Given the description of an element on the screen output the (x, y) to click on. 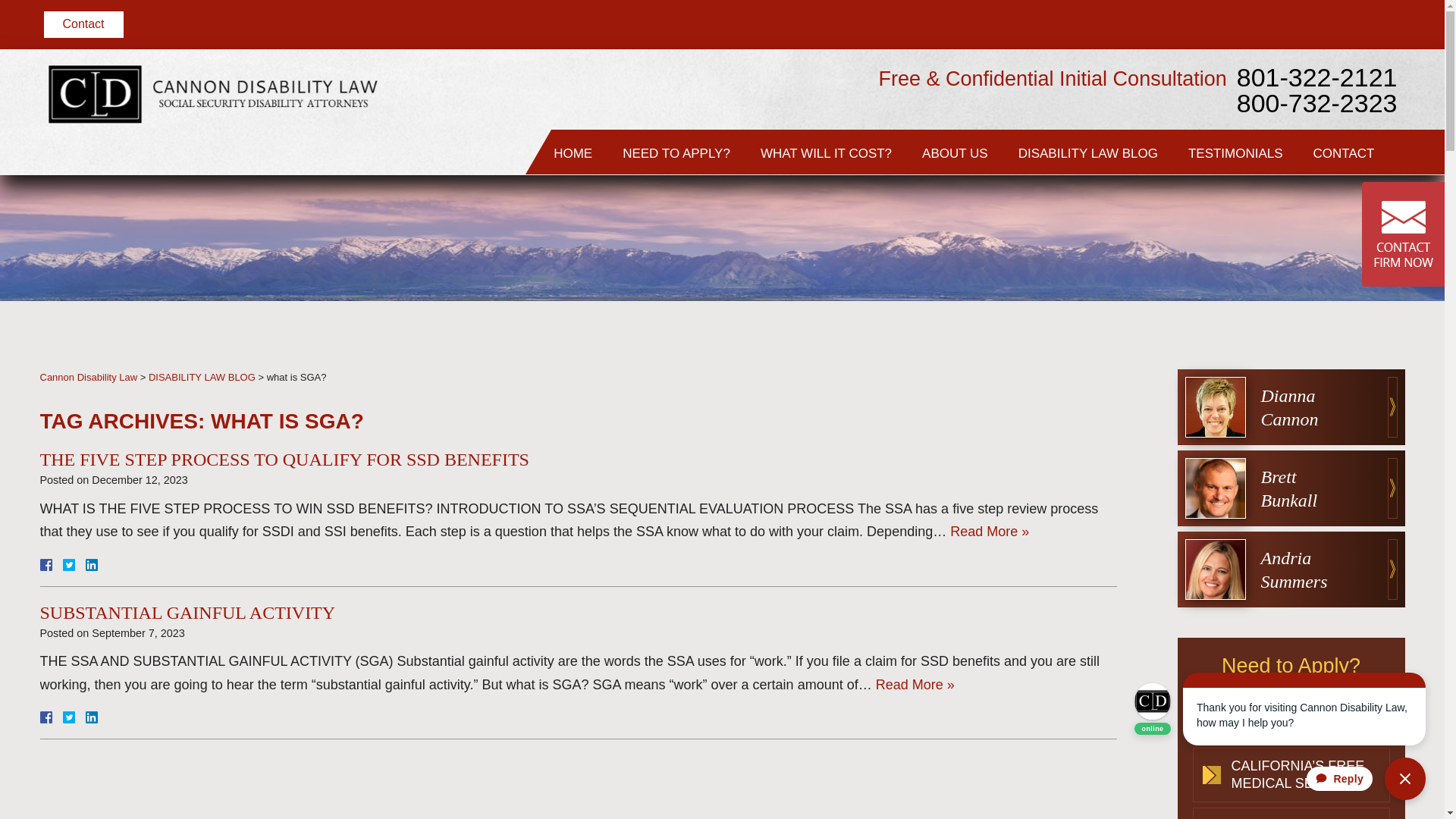
Contact (83, 24)
Twitter (74, 717)
Go to Cannon Disability Law. (87, 377)
801-322-2121 (1316, 130)
NEED TO APPLY? (676, 151)
Go to DISABILITY LAW BLOG. (202, 377)
HOME (572, 151)
Twitter (74, 564)
LinkedIn (85, 717)
800-732-2323 (1316, 154)
Facebook (63, 564)
Facebook (63, 717)
WHAT WILL IT COST? (826, 151)
LinkedIn (85, 564)
